Given the description of an element on the screen output the (x, y) to click on. 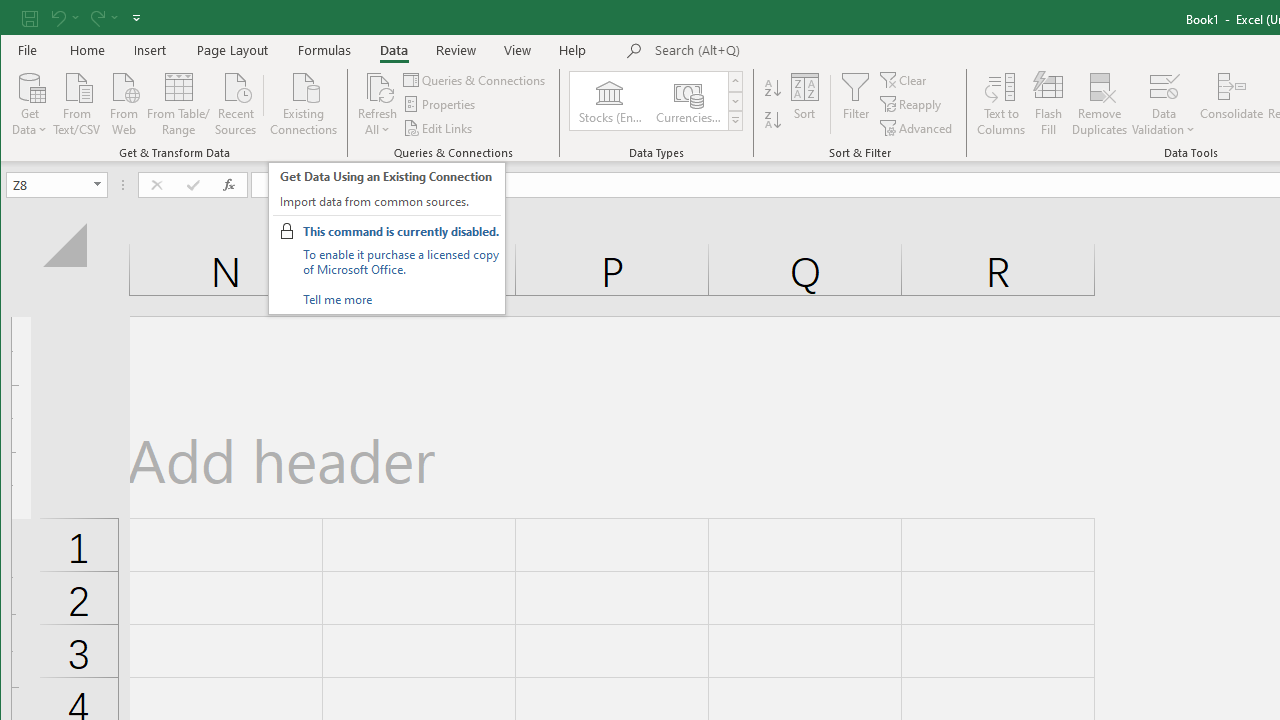
Consolidate... (1231, 104)
